Given the description of an element on the screen output the (x, y) to click on. 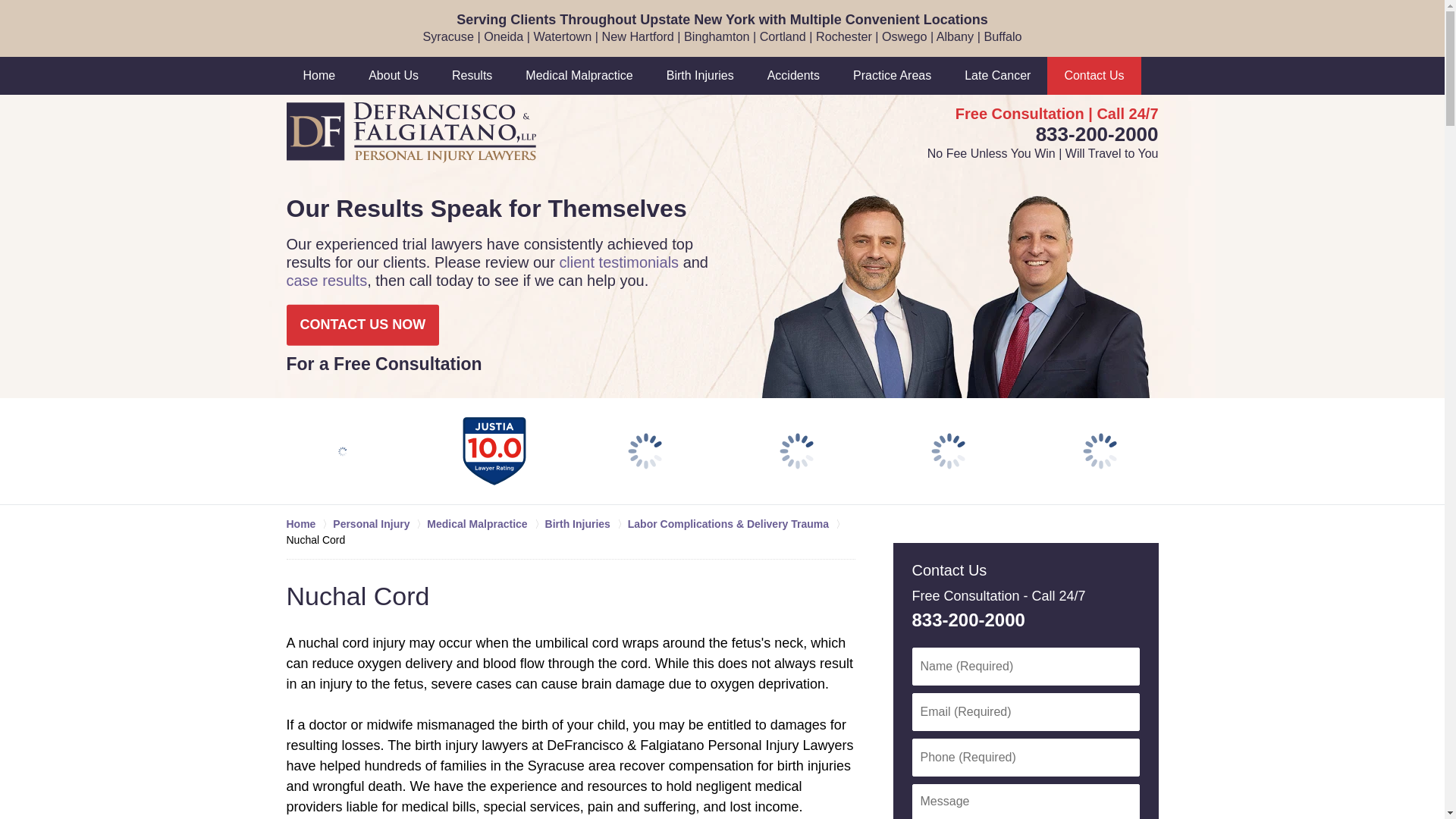
About Us (393, 75)
Practice Areas (891, 75)
Medical Malpractice (578, 75)
Back to Home (410, 132)
Birth Injuries (700, 75)
Results (471, 75)
Home (319, 75)
Accidents (793, 75)
